Given the description of an element on the screen output the (x, y) to click on. 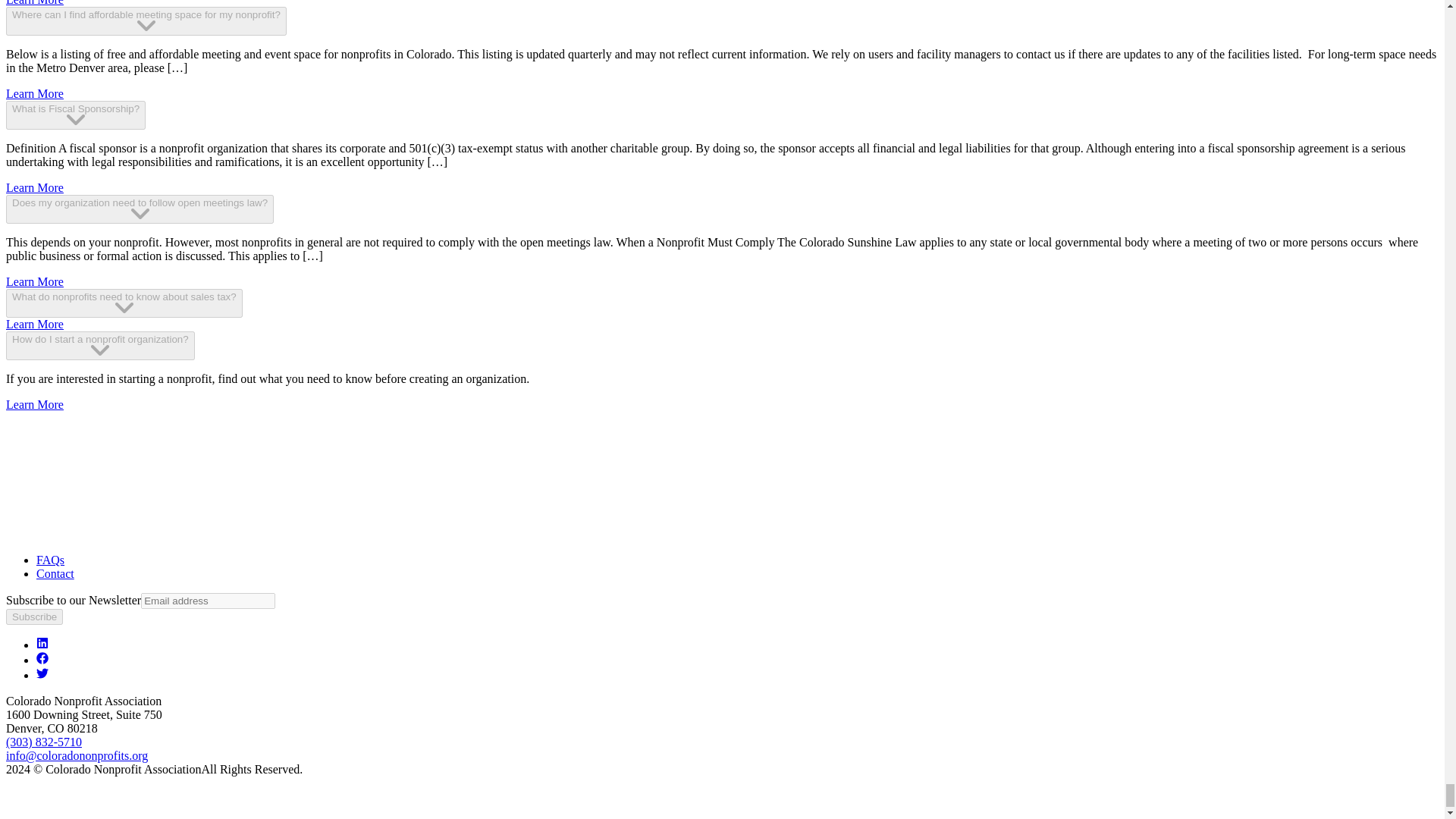
Facebook (42, 659)
Twitter (42, 675)
LinkedIn (42, 644)
